Given the description of an element on the screen output the (x, y) to click on. 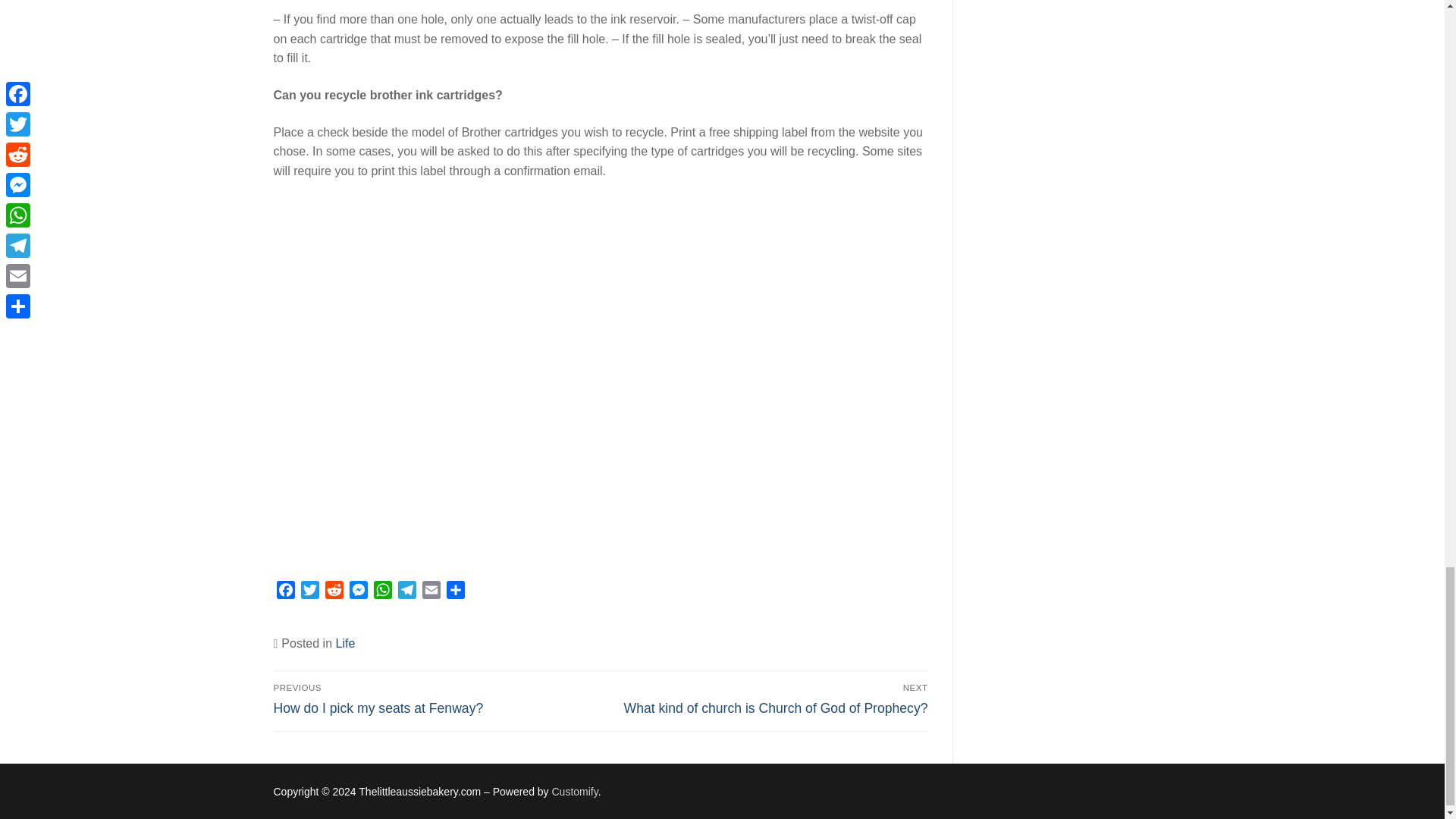
Telegram (406, 592)
Twitter (309, 592)
Customify (574, 791)
Messenger (357, 592)
Reddit (333, 592)
Email (430, 592)
Email (430, 592)
WhatsApp (381, 592)
Facebook (285, 592)
Messenger (357, 592)
Facebook (285, 592)
WhatsApp (433, 698)
